Given the description of an element on the screen output the (x, y) to click on. 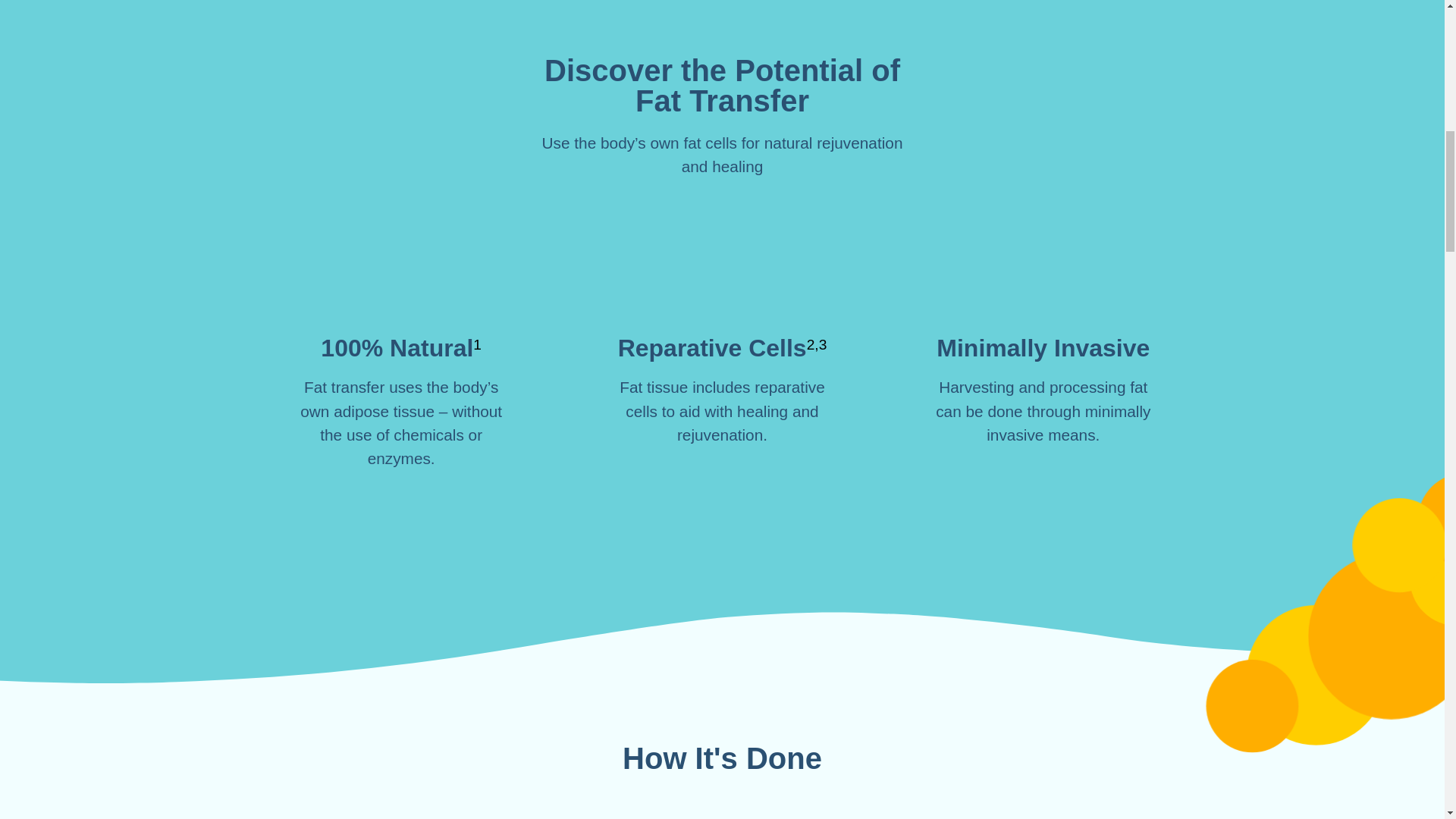
syntr icon plant (400, 282)
syntr icon bandaid (1043, 282)
syntr-icon-heart-plus (721, 282)
